Given the description of an element on the screen output the (x, y) to click on. 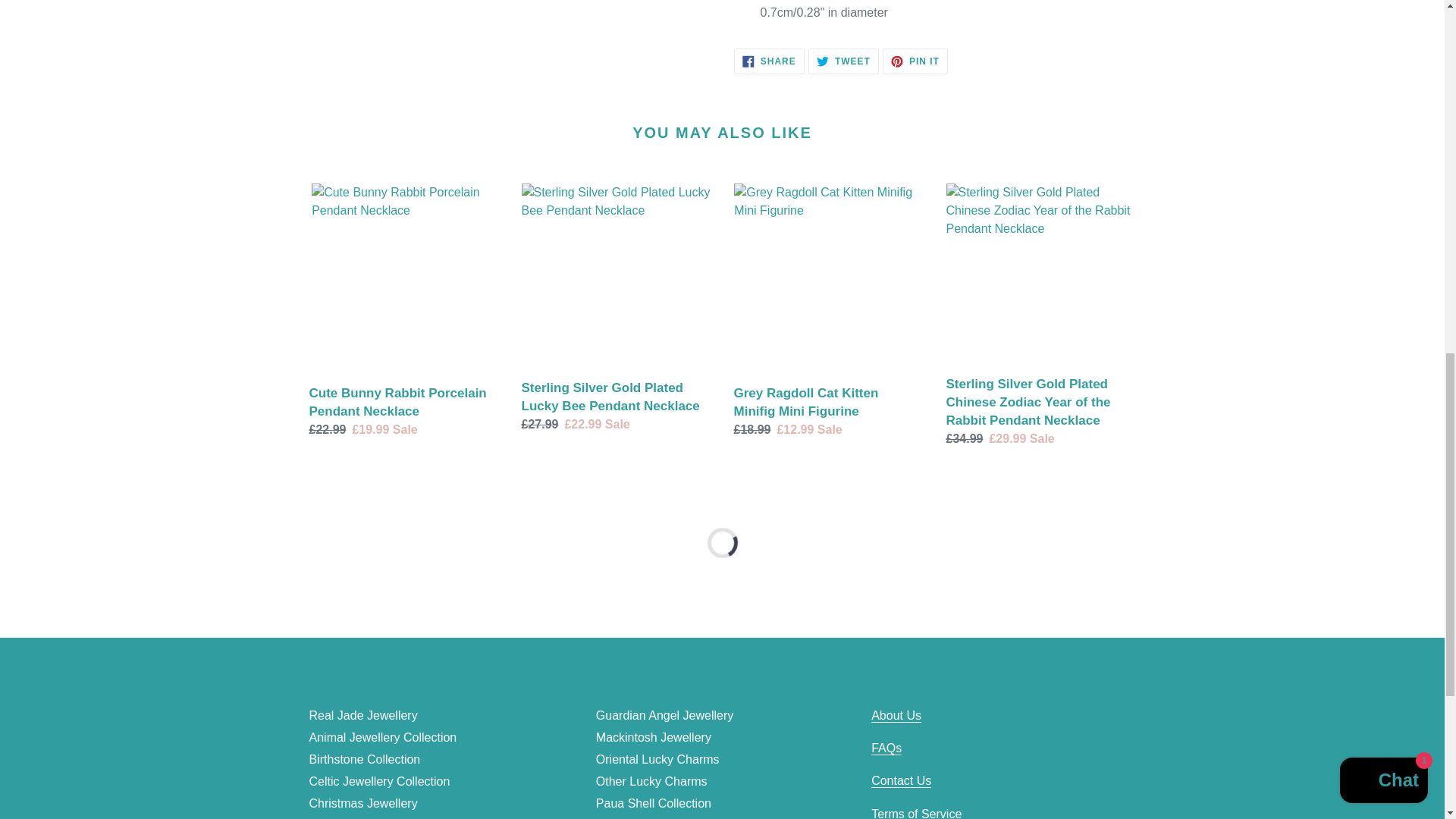
Terms of Service (915, 813)
Contact Us (900, 780)
About Us (895, 715)
FAQs (885, 748)
